Given the description of an element on the screen output the (x, y) to click on. 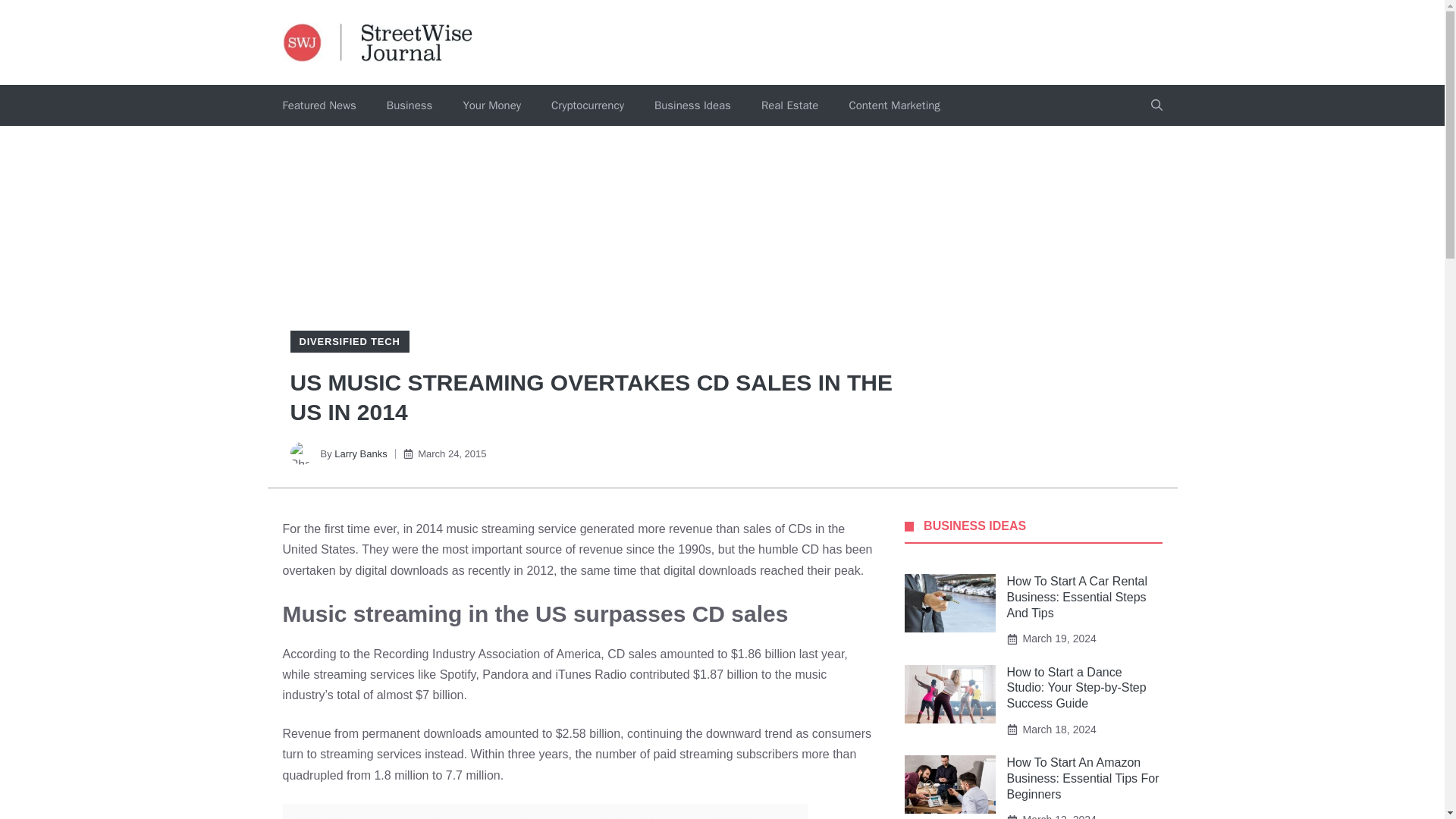
Business Ideas (692, 105)
Featured News (318, 105)
DIVERSIFIED TECH (348, 341)
How To Start A Car Rental Business: Essential Steps And Tips (1077, 596)
Content Marketing (893, 105)
Business (409, 105)
How to Start a Dance Studio: Your Step-by-Step Success Guide (1077, 687)
Larry Banks (360, 453)
Cryptocurrency (587, 105)
Your Money (490, 105)
